Given the description of an element on the screen output the (x, y) to click on. 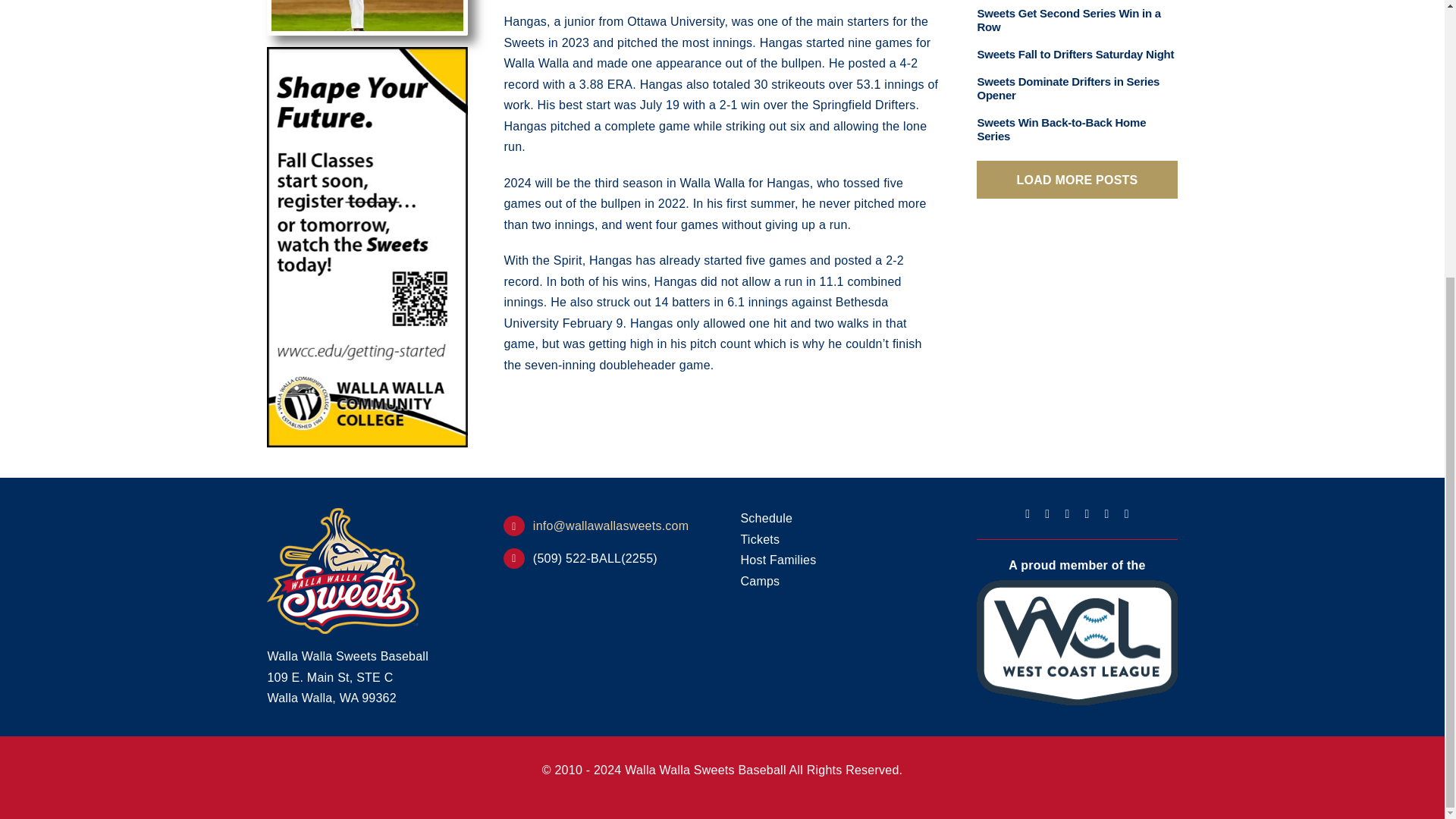
Capture (366, 15)
